Given the description of an element on the screen output the (x, y) to click on. 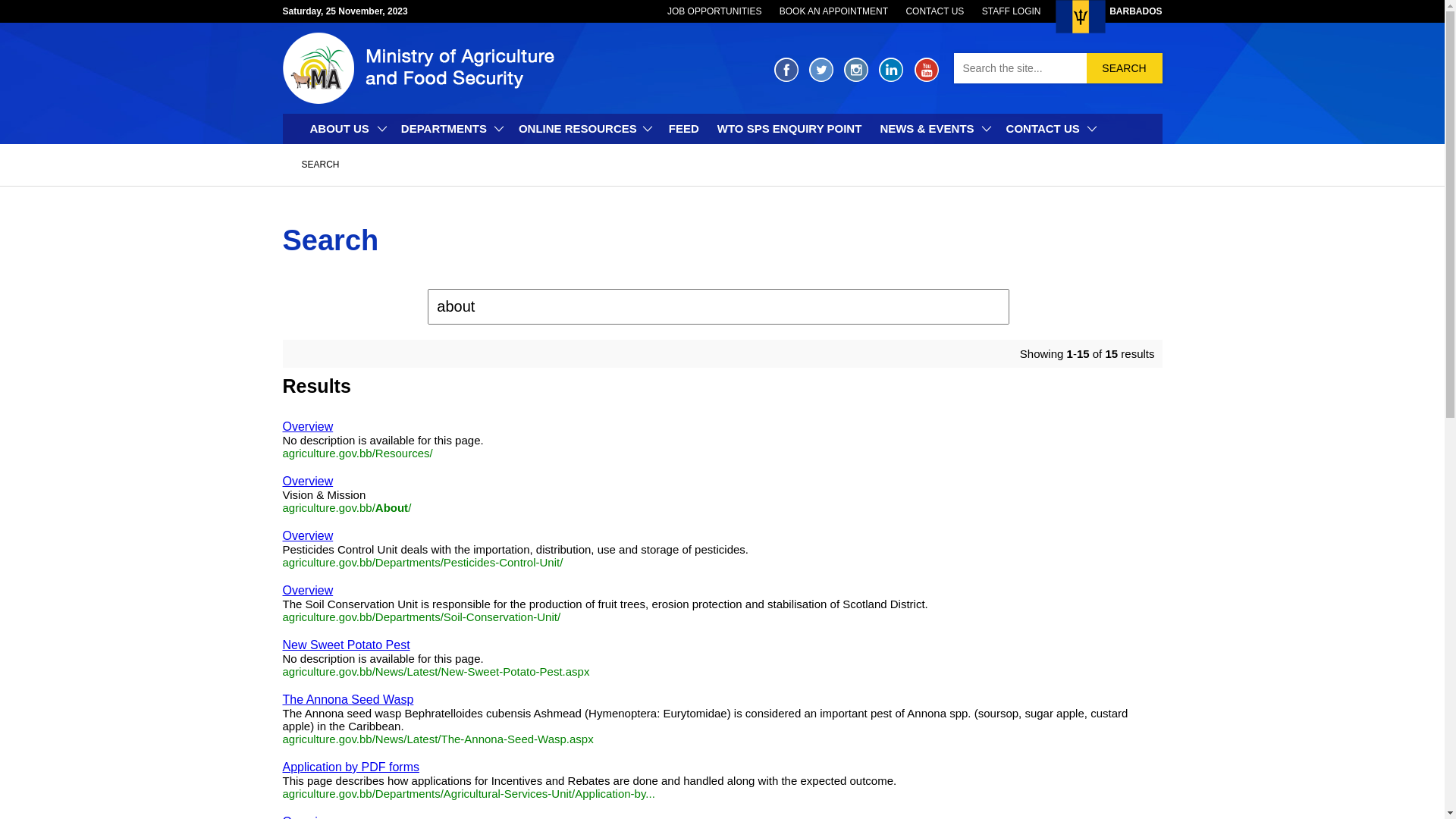
Overview Element type: text (307, 589)
Overview Element type: text (307, 535)
Overview Element type: text (307, 426)
CONTACT US Element type: text (934, 11)
ABOUT US Element type: text (345, 128)
SEARCH Element type: text (319, 164)
New Sweet Potato Pest Element type: text (345, 644)
JOB OPPORTUNITIES Element type: text (714, 11)
FEED Element type: text (683, 128)
STAFF LOGIN Element type: text (1011, 11)
CONTACT US Element type: text (1049, 128)
BOOK AN APPOINTMENT Element type: text (833, 11)
SEARCH Element type: text (1123, 68)
WTO SPS ENQUIRY POINT Element type: text (789, 128)
DEPARTMENTS Element type: text (450, 128)
Application by PDF forms Element type: text (350, 766)
Overview Element type: text (307, 480)
ONLINE RESOURCES Element type: text (584, 128)
NEWS & EVENTS Element type: text (933, 128)
The Annona Seed Wasp Element type: text (347, 699)
